Given the description of an element on the screen output the (x, y) to click on. 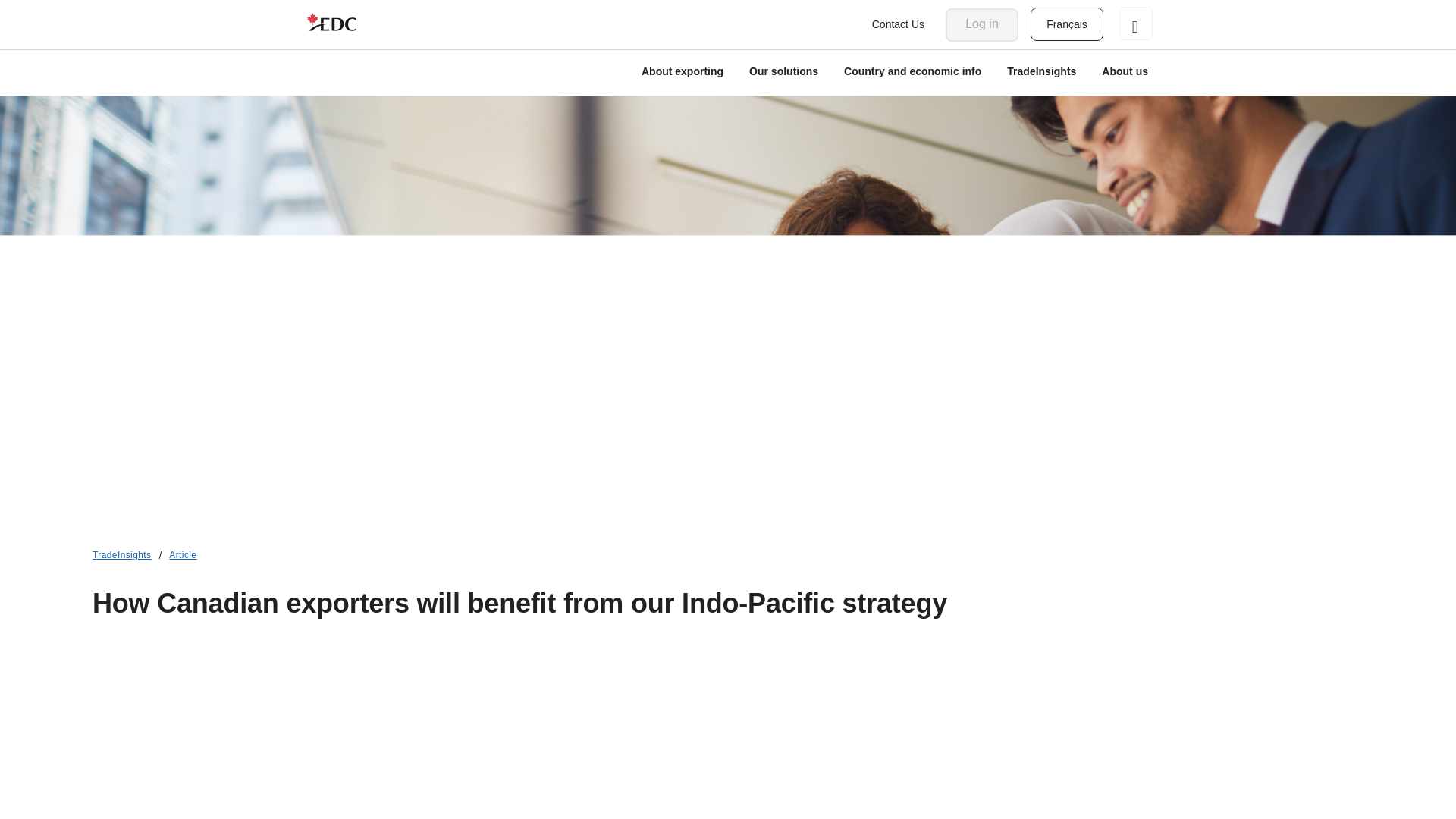
Log in (980, 23)
Contact Us (898, 24)
About exporting (682, 72)
Our solutions (783, 72)
